Given the description of an element on the screen output the (x, y) to click on. 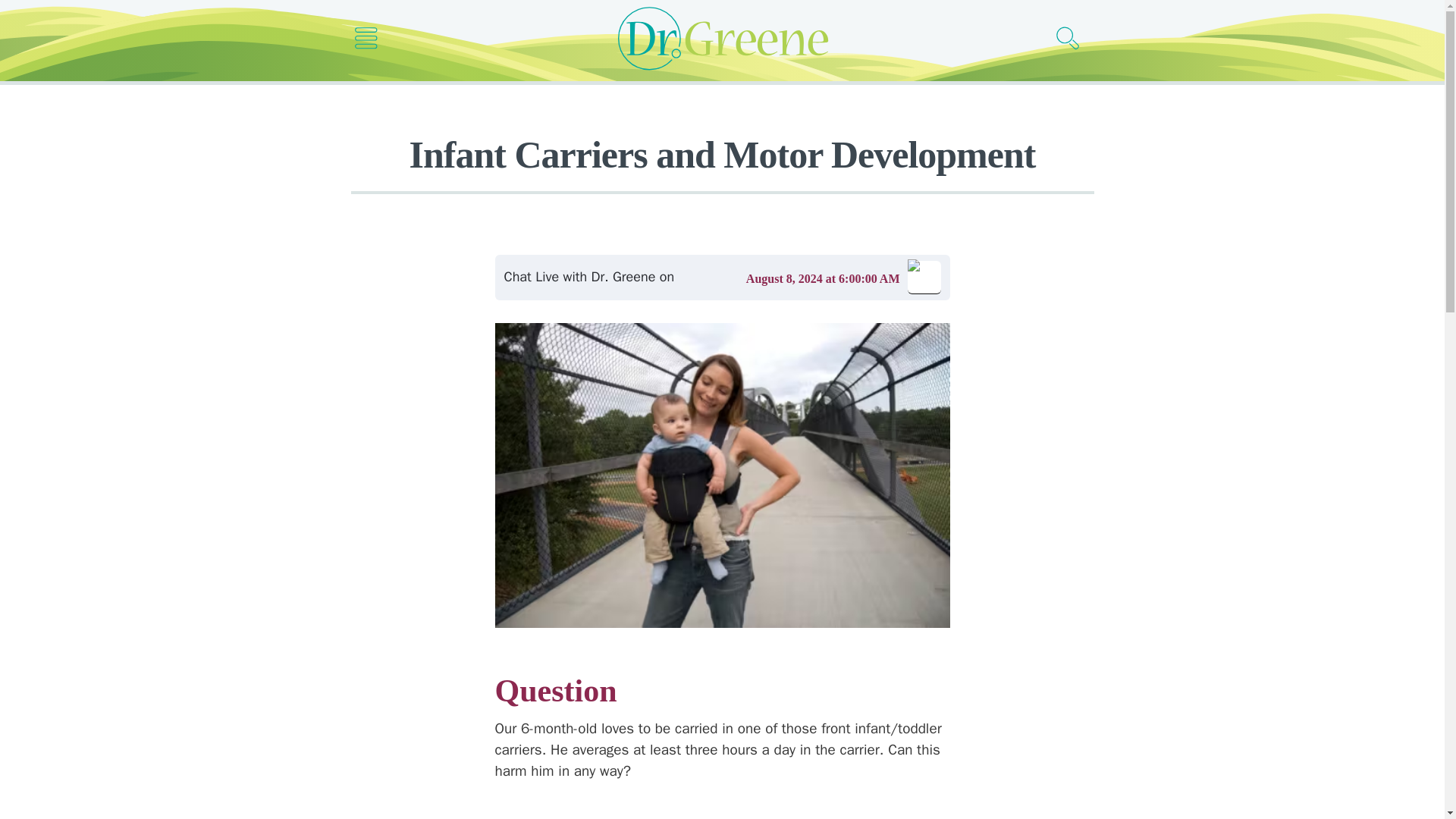
Dr Greene logo (721, 37)
